Given the description of an element on the screen output the (x, y) to click on. 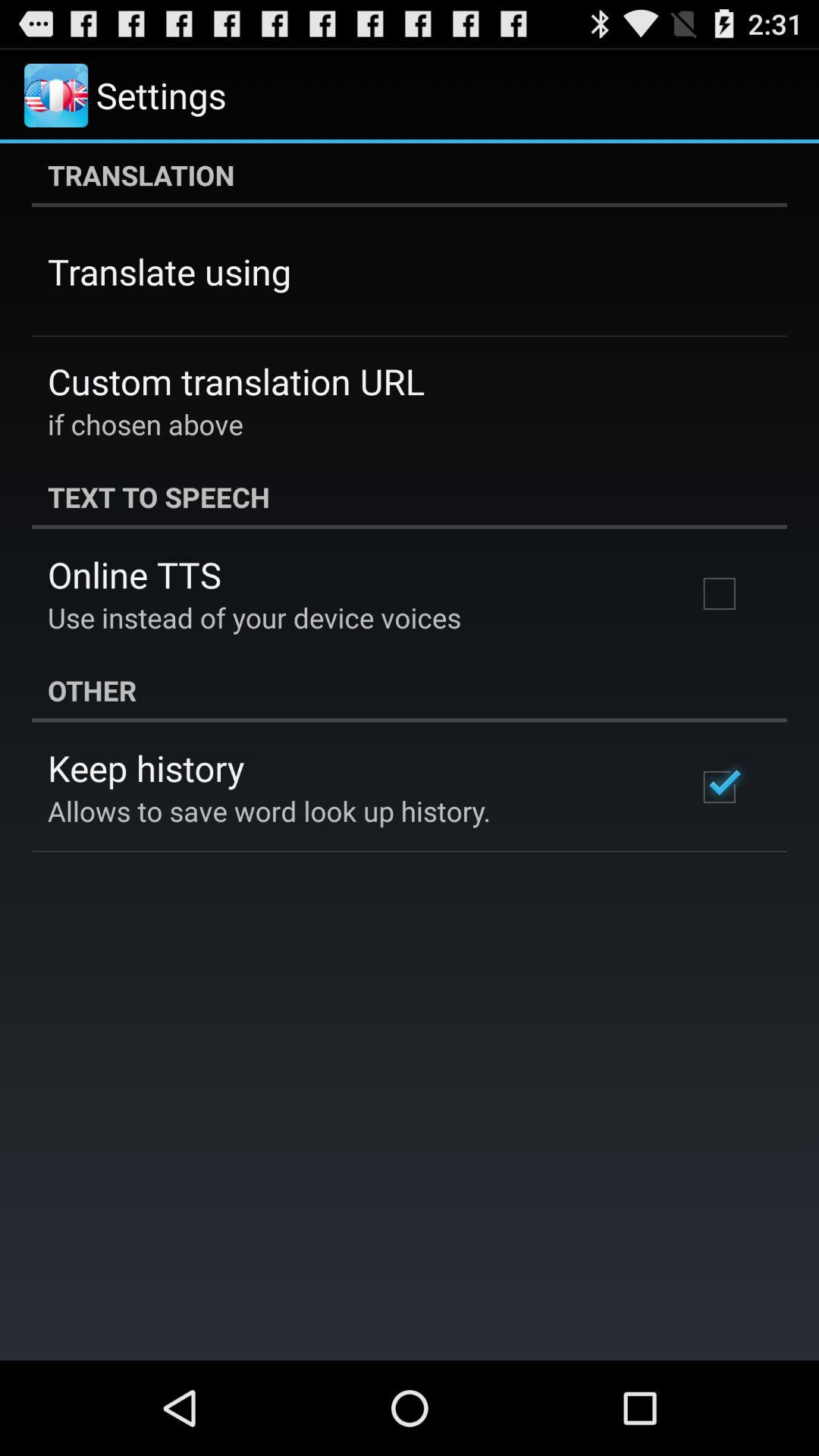
turn on the text to speech app (409, 496)
